Given the description of an element on the screen output the (x, y) to click on. 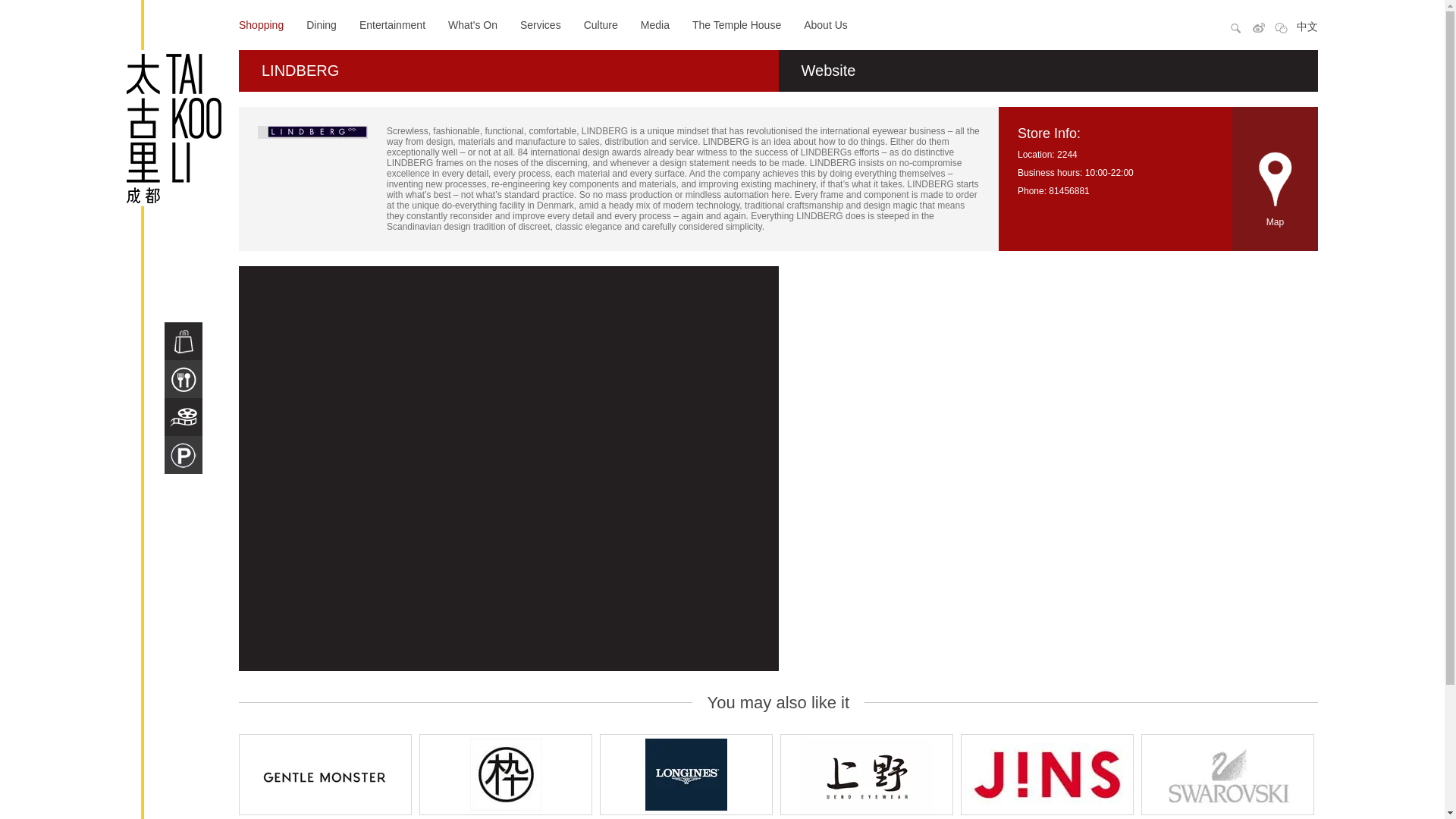
Dining (320, 24)
What's On (472, 24)
The Temple House (736, 24)
Media (654, 24)
Entertainment (392, 24)
Services (539, 24)
Culture (600, 24)
Shopping (260, 24)
About Us (825, 24)
